Given the description of an element on the screen output the (x, y) to click on. 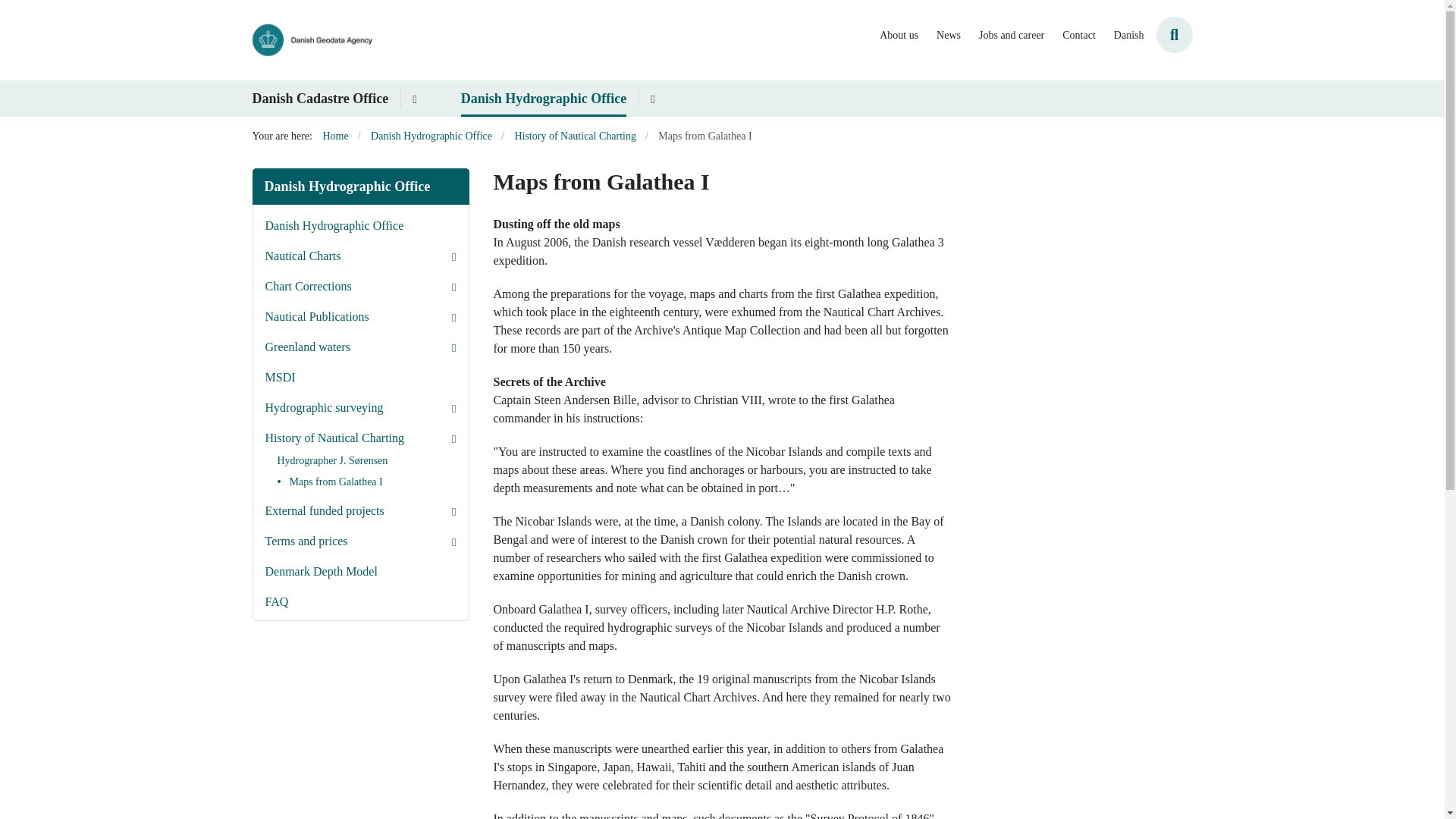
Danish Hydrographic Office (544, 98)
Jobs and career (1010, 35)
About us (898, 35)
Contact (1079, 35)
News (948, 35)
Danish Cadastre Office (319, 98)
Danish (1128, 35)
